Given the description of an element on the screen output the (x, y) to click on. 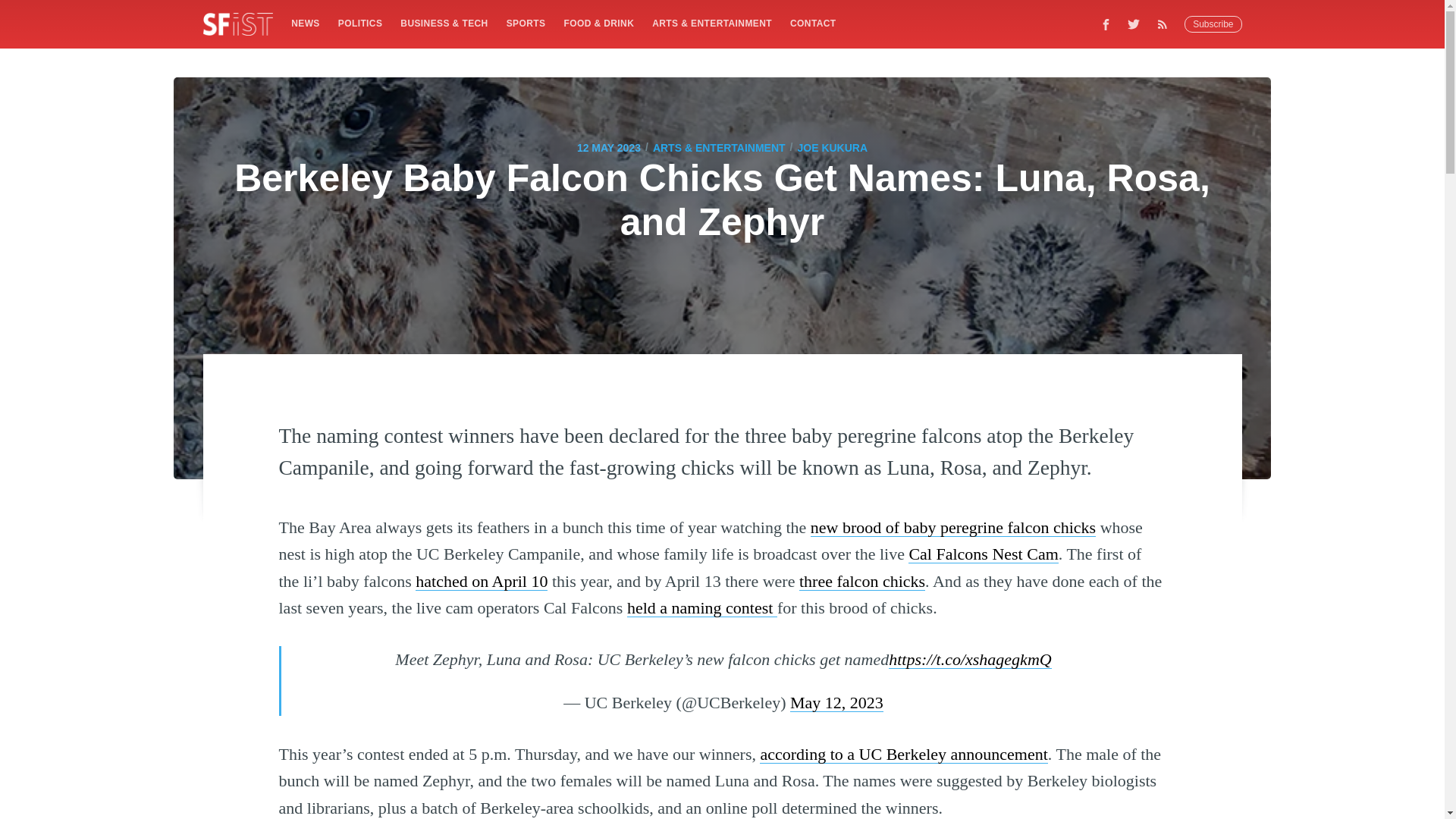
Facebook (1106, 23)
Cal Falcons Nest Cam (983, 553)
according to a UC Berkeley announcement (903, 753)
SPORTS (525, 23)
May 12, 2023 (836, 701)
CONTACT (812, 23)
Twitter (1133, 23)
hatched on April 10 (480, 580)
held a naming contest (702, 607)
POLITICS (360, 23)
JOE KUKURA (832, 147)
RSS (1166, 23)
three falcon chicks (861, 580)
NEWS (305, 23)
Subscribe (1213, 23)
